Given the description of an element on the screen output the (x, y) to click on. 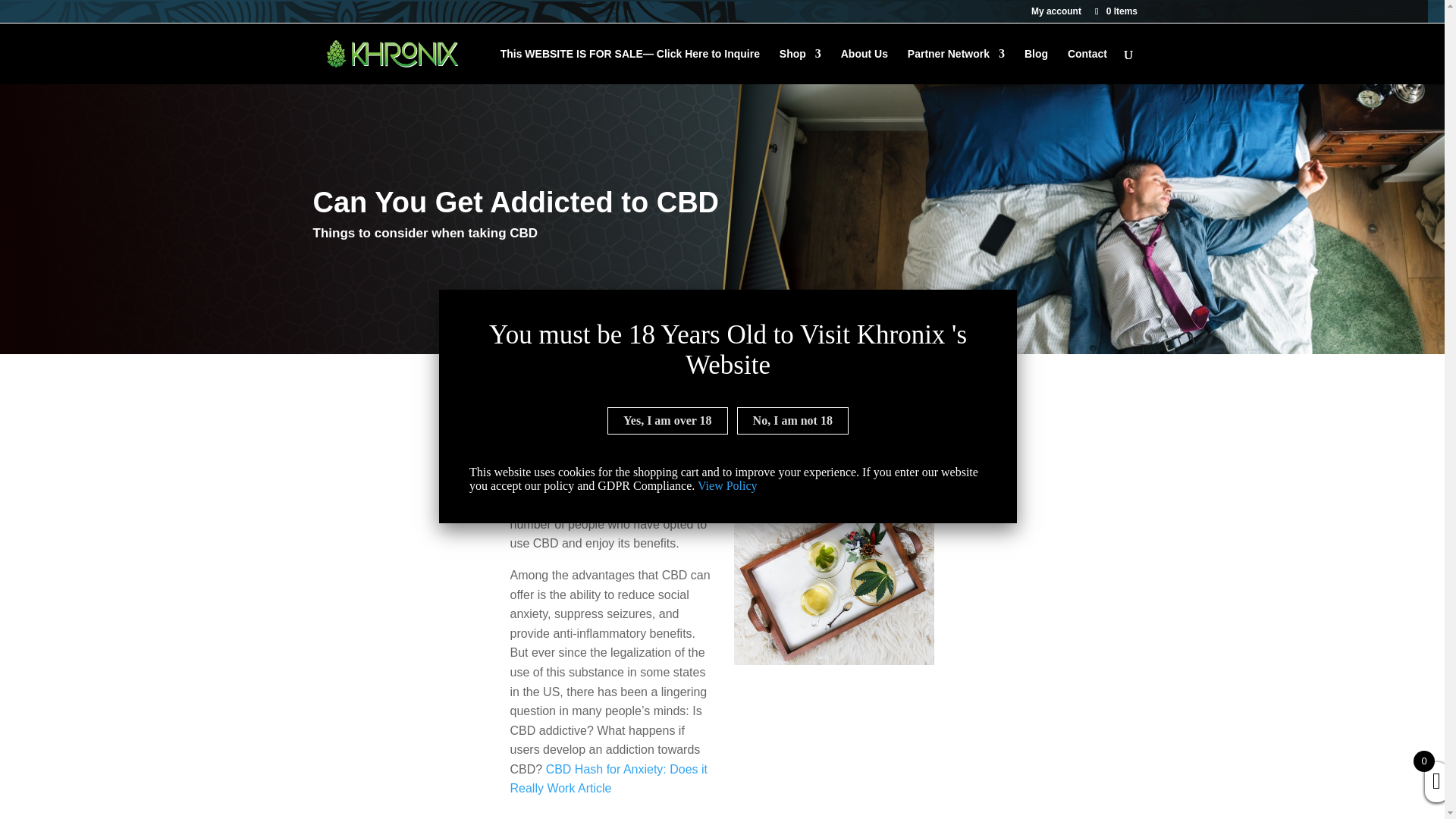
About Us (864, 66)
Shop (799, 66)
My account (1055, 14)
Contact (1086, 66)
Partner Network (955, 66)
CBD (522, 445)
Does CBD cause addiction? (833, 580)
0 Items (1115, 10)
CBD Hash for Anxiety: Does it Really Work Article (608, 778)
